Given the description of an element on the screen output the (x, y) to click on. 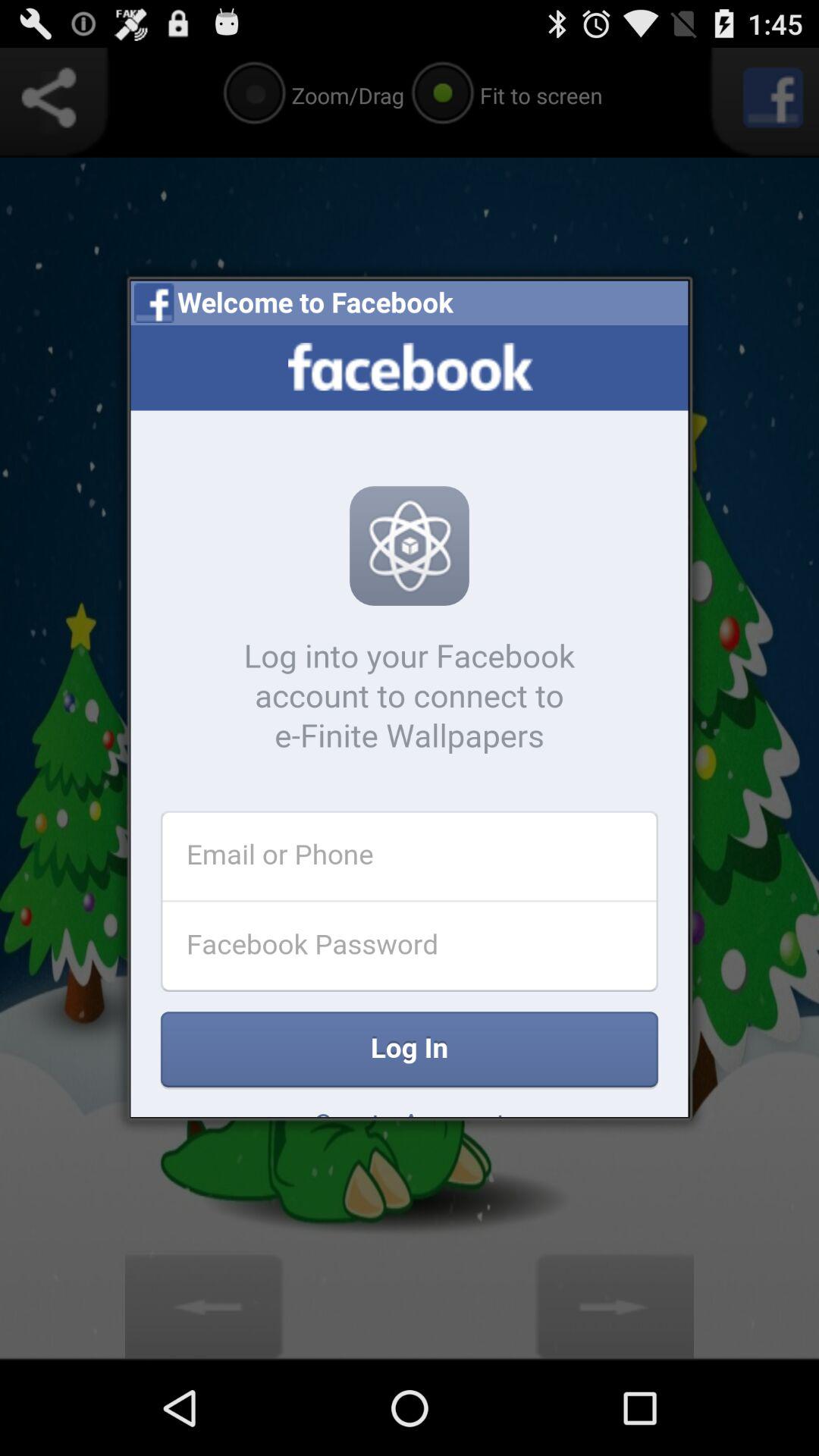
facebook login (409, 721)
